Given the description of an element on the screen output the (x, y) to click on. 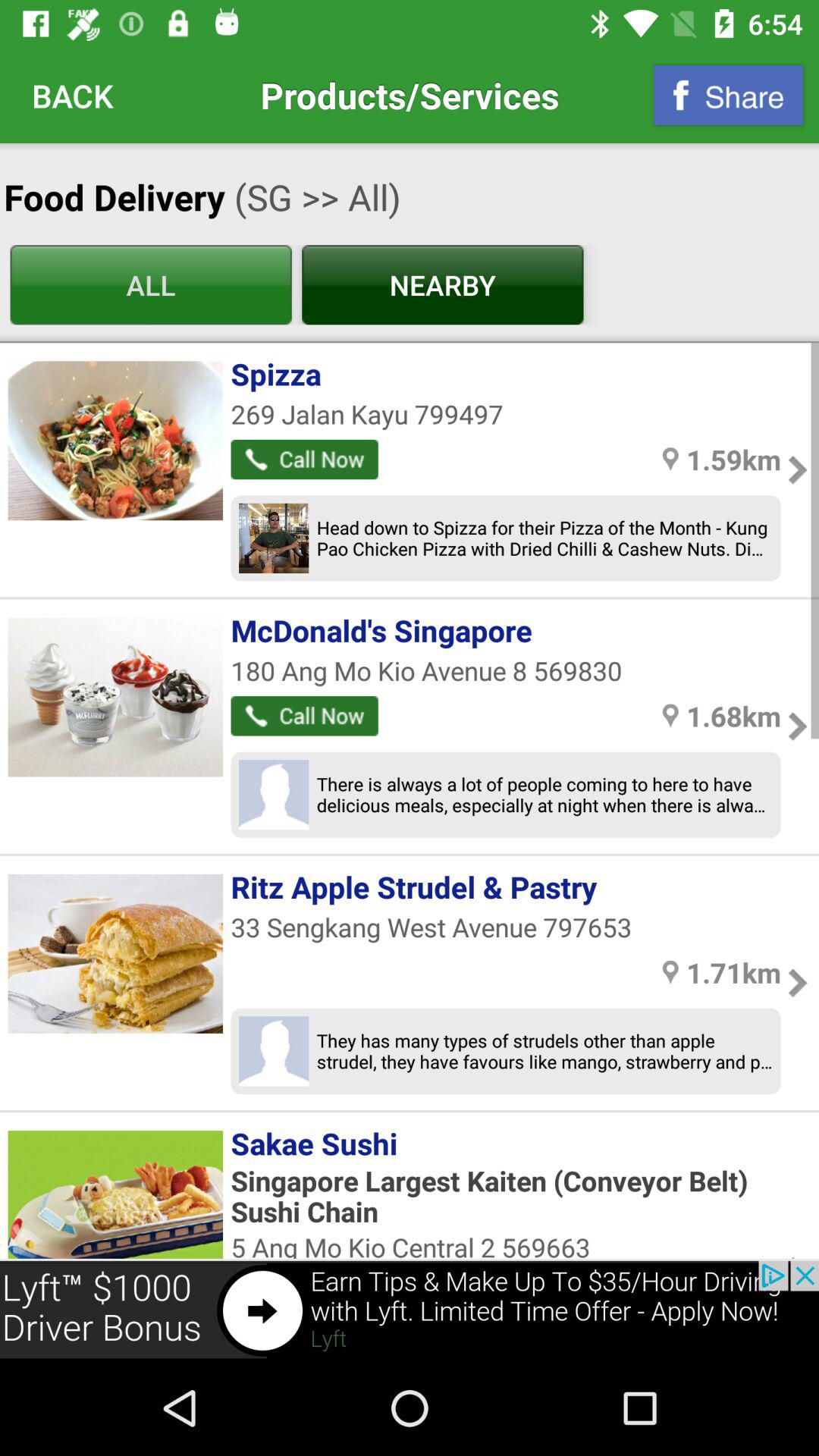
click on back option (72, 95)
the first image of the page (115, 440)
click on third green button from top (304, 459)
